Given the description of an element on the screen output the (x, y) to click on. 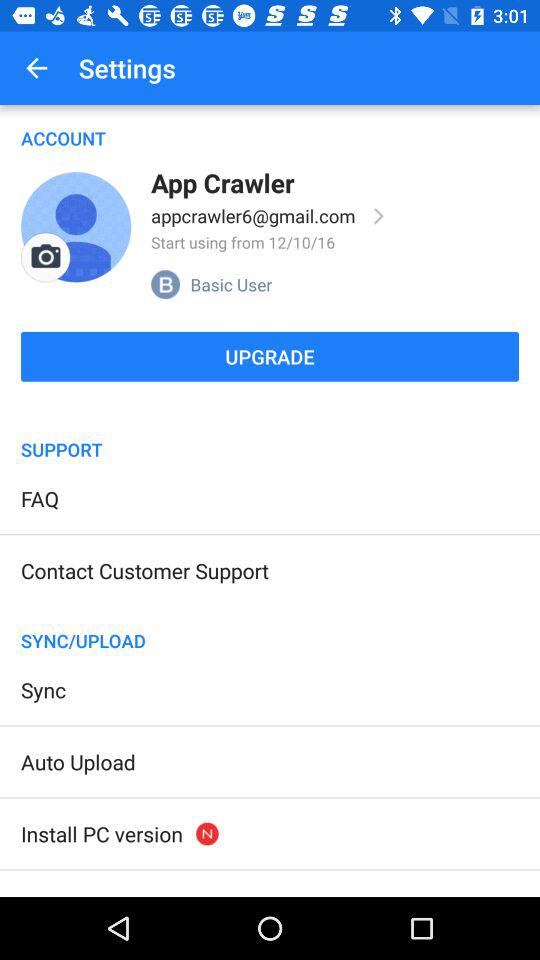
select faq item (40, 498)
